Given the description of an element on the screen output the (x, y) to click on. 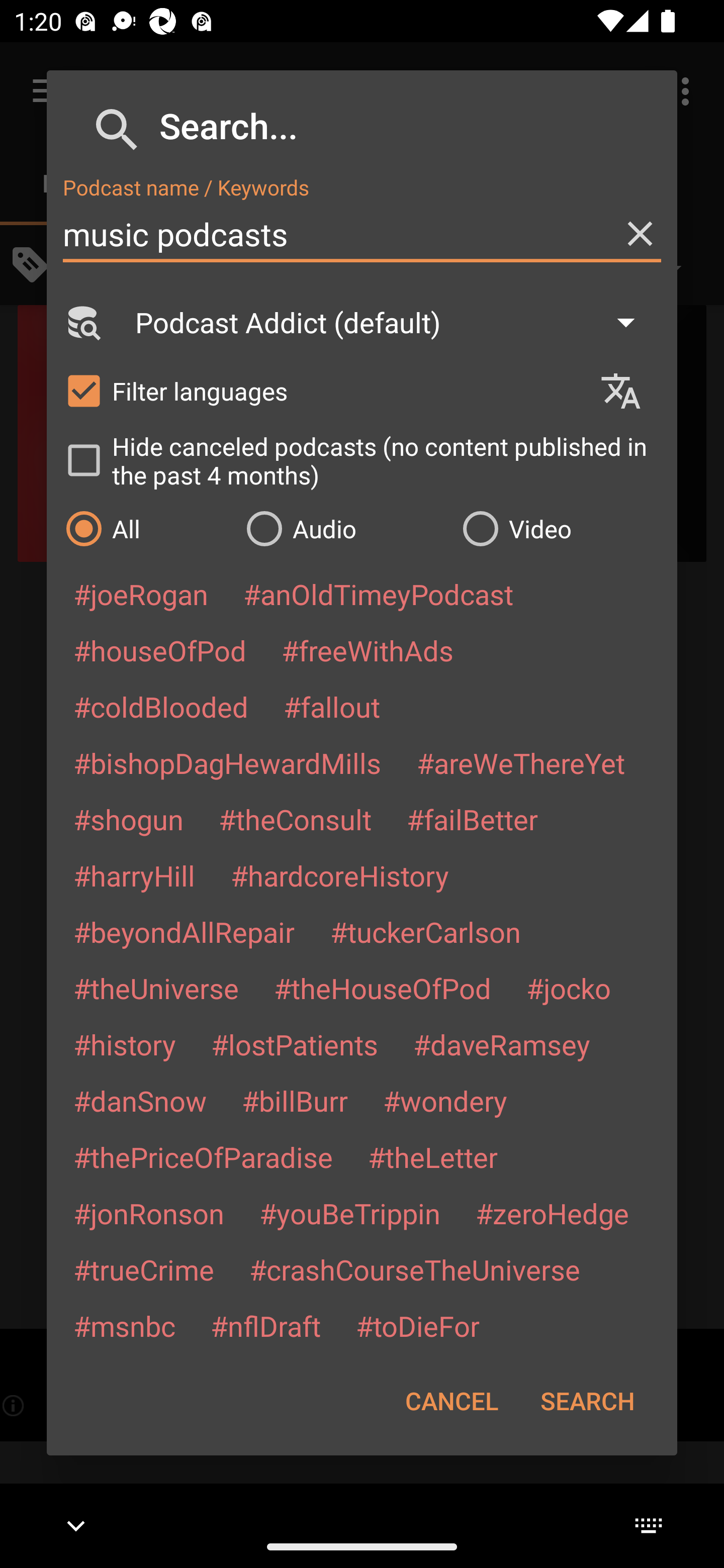
music podcasts (361, 234)
Search Engine (82, 322)
Podcast Addict (default) (394, 322)
Languages selection (629, 390)
Filter languages (322, 390)
All (145, 528)
Audio (344, 528)
Video (560, 528)
#joeRogan (140, 594)
#anOldTimeyPodcast (378, 594)
#houseOfPod (159, 650)
#freeWithAds (367, 650)
#coldBlooded (160, 705)
#fallout (331, 705)
#bishopDagHewardMills (227, 762)
#areWeThereYet (521, 762)
#shogun (128, 818)
#theConsult (294, 818)
#failBetter (471, 818)
#harryHill (134, 875)
#hardcoreHistory (339, 875)
#beyondAllRepair (184, 931)
#tuckerCarlson (425, 931)
#theUniverse (155, 987)
#theHouseOfPod (381, 987)
#jocko (568, 987)
#history (124, 1044)
#lostPatients (294, 1044)
#daveRamsey (501, 1044)
#danSnow (139, 1100)
#billBurr (294, 1100)
#wondery (444, 1100)
#thePriceOfParadise (203, 1157)
#theLetter (432, 1157)
#jonRonson (148, 1213)
#youBeTrippin (349, 1213)
#zeroHedge (552, 1213)
#trueCrime (143, 1268)
#crashCourseTheUniverse (414, 1268)
#msnbc (124, 1325)
#nflDraft (265, 1325)
#toDieFor (417, 1325)
CANCEL (451, 1400)
SEARCH (587, 1400)
